Given the description of an element on the screen output the (x, y) to click on. 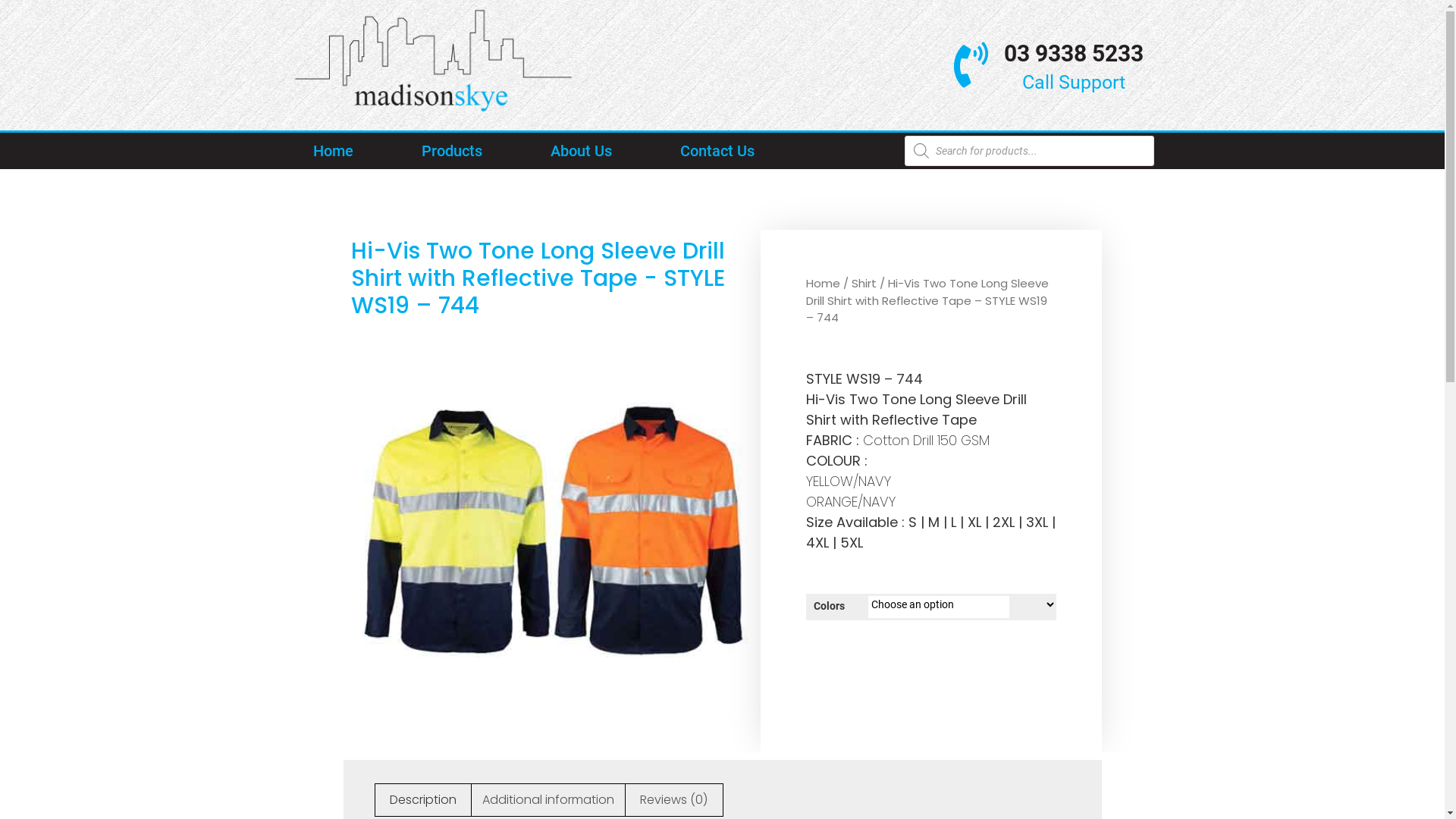
Additional information Element type: text (547, 799)
Description Element type: text (422, 799)
Products Element type: text (451, 150)
Two-Tone-Long-Sleeve-Drill-Shirt-with-Reflective-Tape-main Element type: hover (551, 527)
Contact Us Element type: text (716, 150)
Reviews (0) Element type: text (673, 799)
Home Element type: text (332, 150)
03 9338 5233 Element type: text (1073, 53)
Home Element type: text (822, 283)
About Us Element type: text (580, 150)
Shirt Element type: text (862, 283)
